Given the description of an element on the screen output the (x, y) to click on. 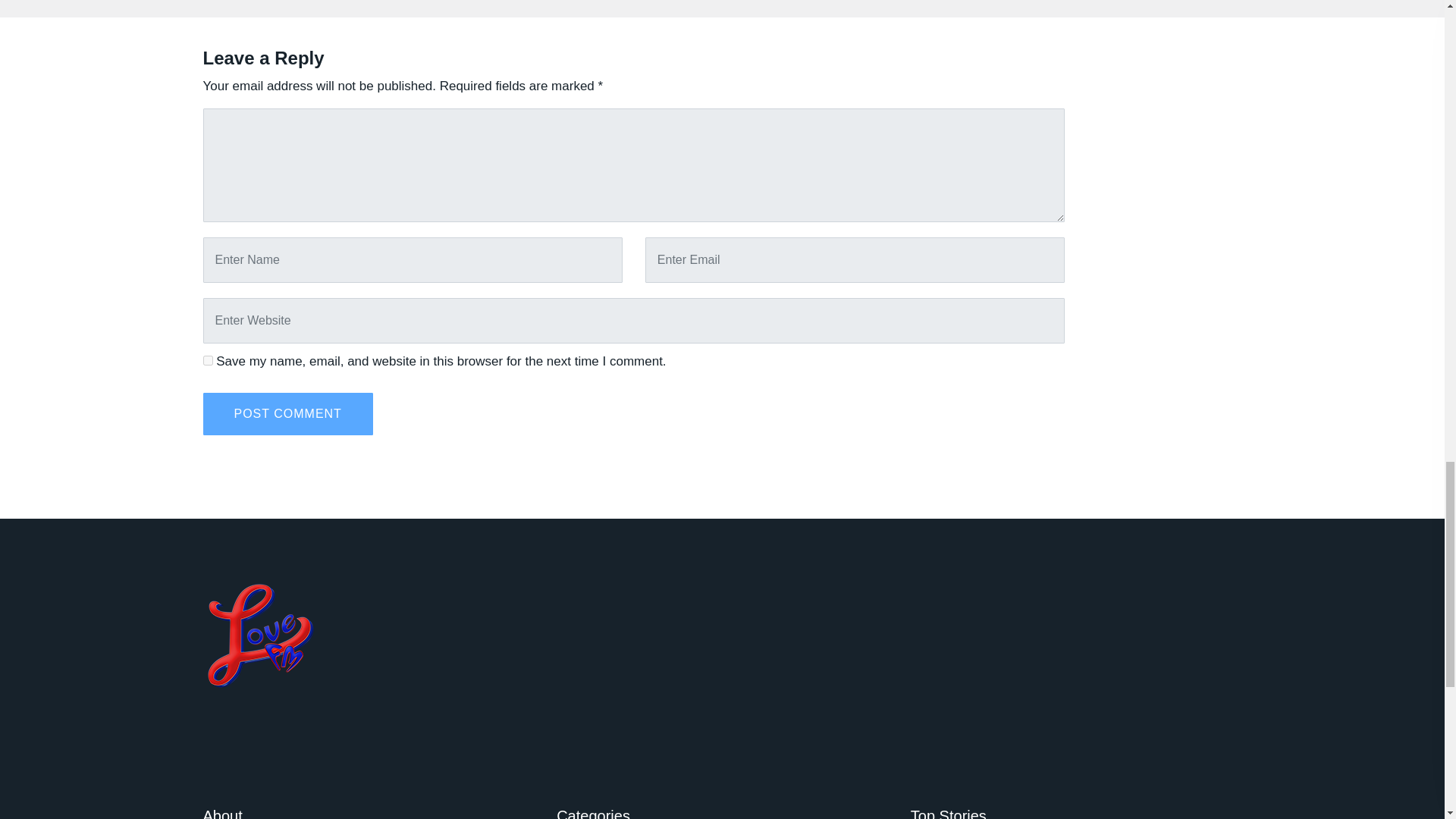
yes (207, 360)
Post Comment (287, 413)
